Given the description of an element on the screen output the (x, y) to click on. 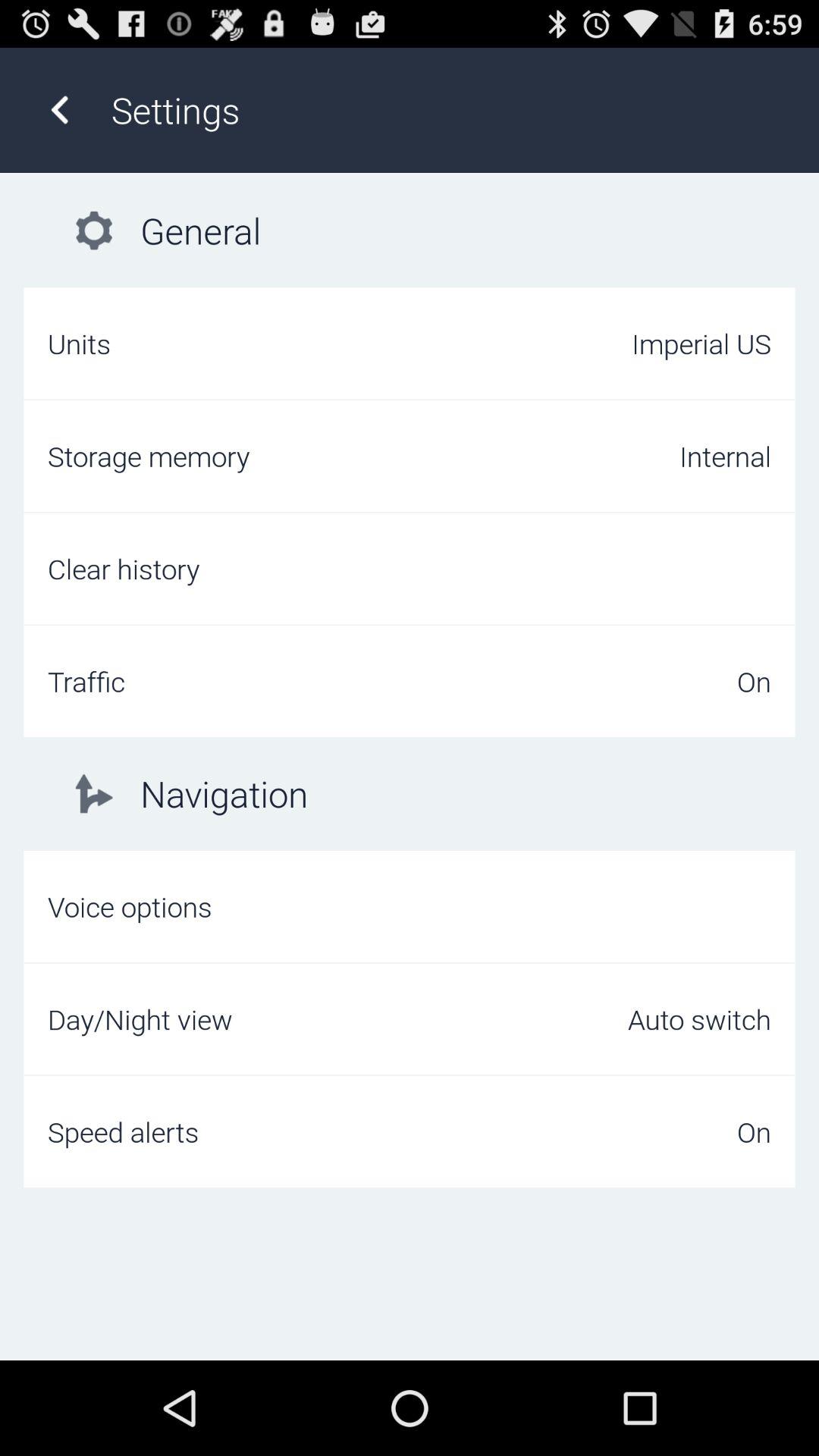
click the icon next to settings icon (59, 109)
